Given the description of an element on the screen output the (x, y) to click on. 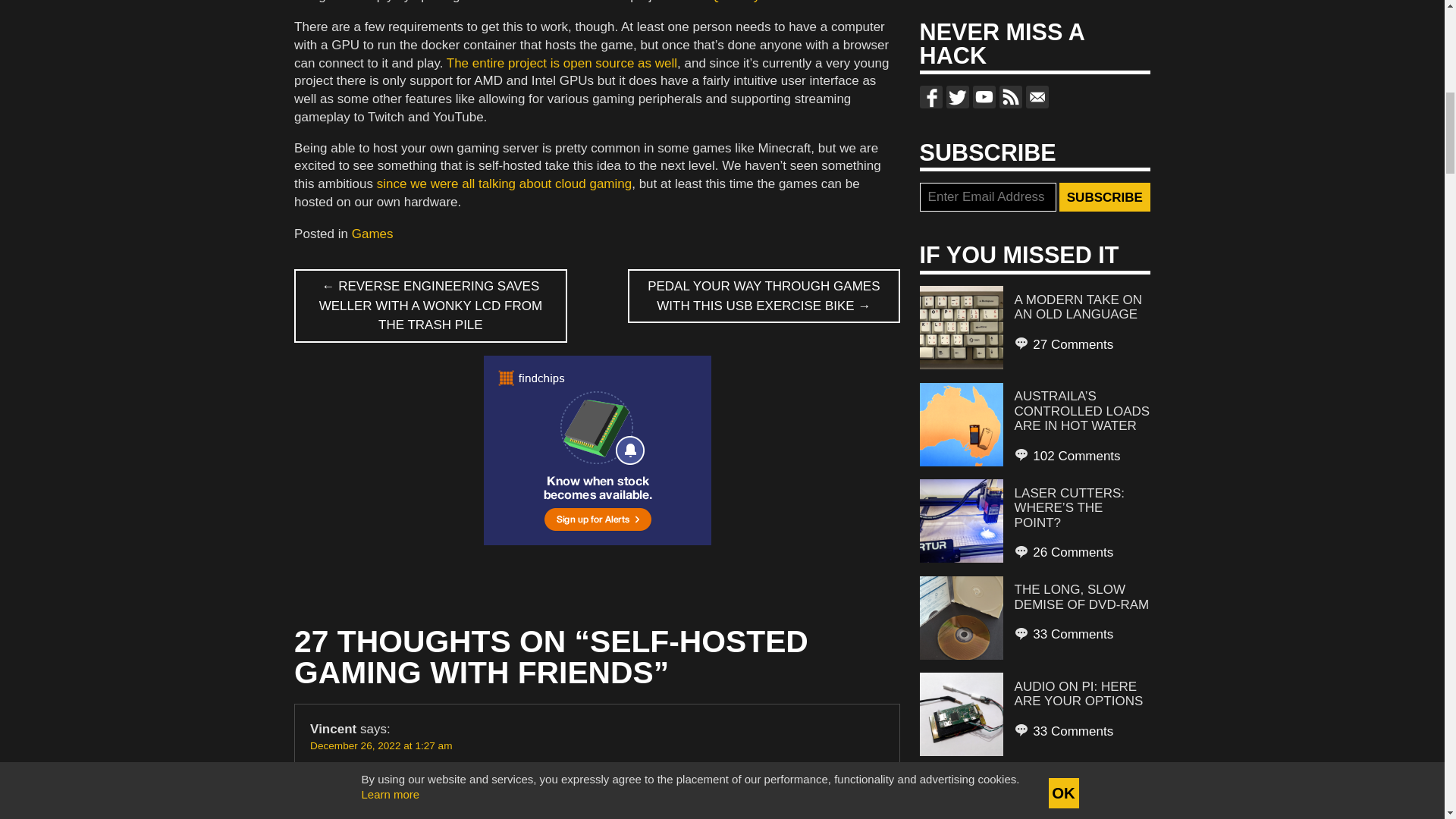
The entire project is open source as well (561, 63)
December 26, 2022 at 1:27 am (380, 745)
Subscribe (1104, 196)
since we were all talking about cloud gaming (504, 183)
Games (372, 233)
Qwantify (734, 1)
